Given the description of an element on the screen output the (x, y) to click on. 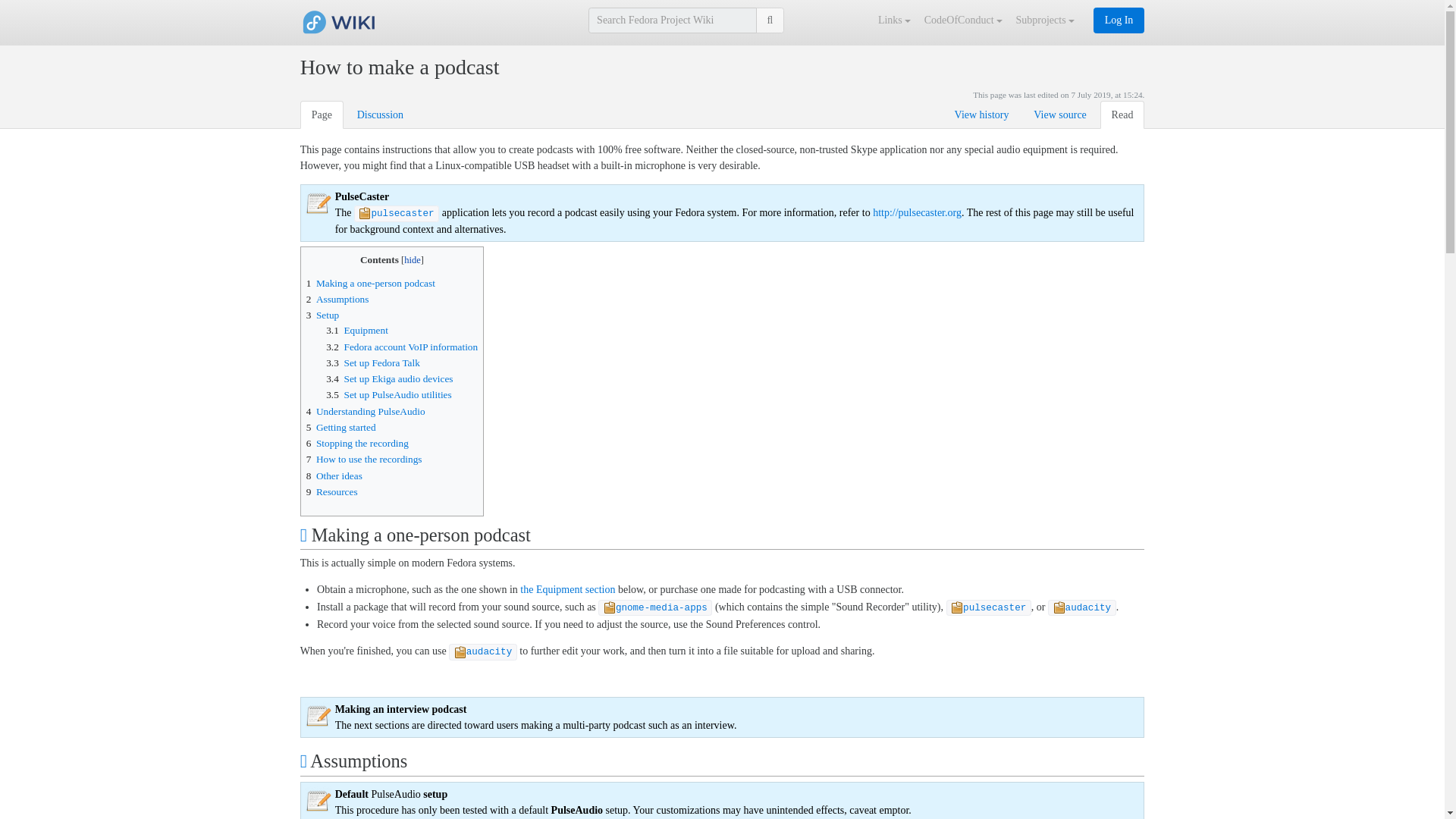
Subprojects (1046, 19)
Page (321, 114)
3 Setup (322, 315)
Discussion (380, 114)
3.1 Equipment (357, 329)
3.2 Fedora account VoIP information (401, 346)
Links (895, 19)
1 Making a one-person podcast (370, 283)
CodeOfConduct (965, 19)
Log In (1118, 20)
Read (1122, 114)
3.3 Set up Fedora Talk (373, 362)
View history (981, 114)
2 Assumptions (337, 298)
View source (1059, 114)
